Given the description of an element on the screen output the (x, y) to click on. 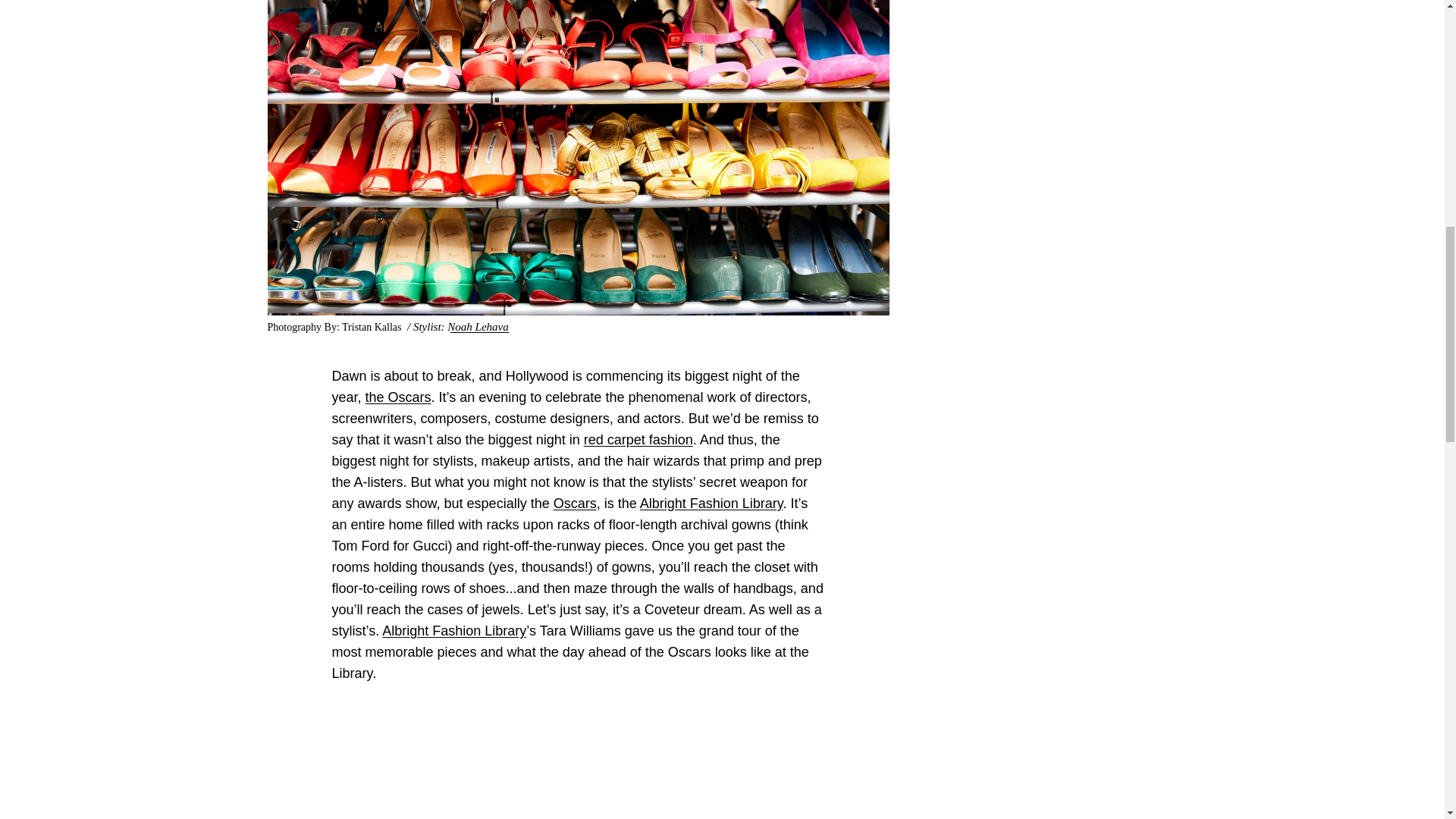
red carpet fashion (638, 439)
Albright Fashion Library (453, 630)
Oscars (574, 503)
the Oscars (397, 396)
Albright Fashion Library (711, 503)
